Given the description of an element on the screen output the (x, y) to click on. 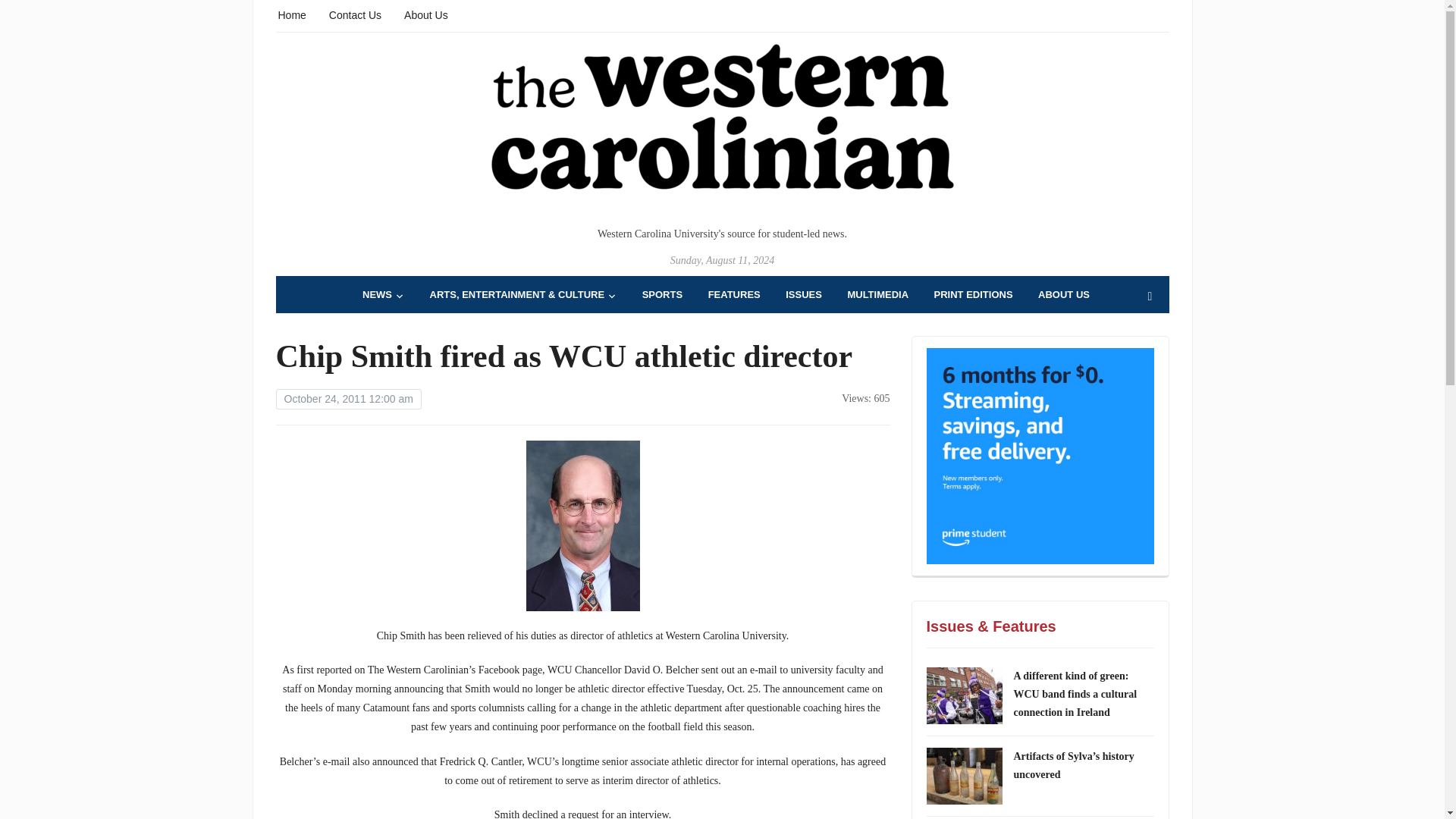
FEATURES (733, 294)
ABOUT US (1063, 294)
ISSUES (804, 294)
MULTIMEDIA (877, 294)
About Us (426, 14)
SPORTS (662, 294)
Search (1149, 296)
Home (291, 14)
Contact Us (355, 14)
